Given the description of an element on the screen output the (x, y) to click on. 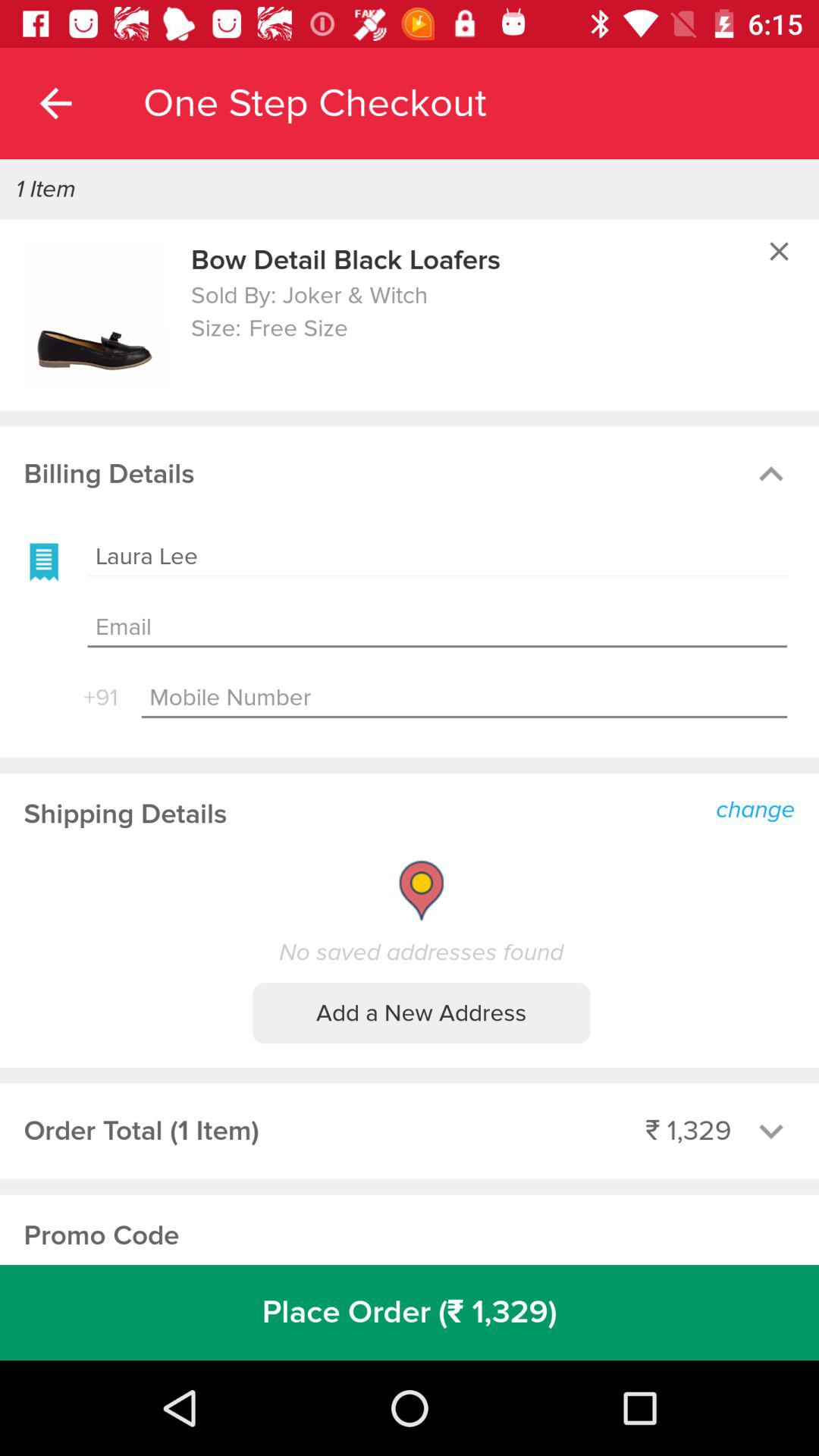
launch the add a new icon (421, 1012)
